Given the description of an element on the screen output the (x, y) to click on. 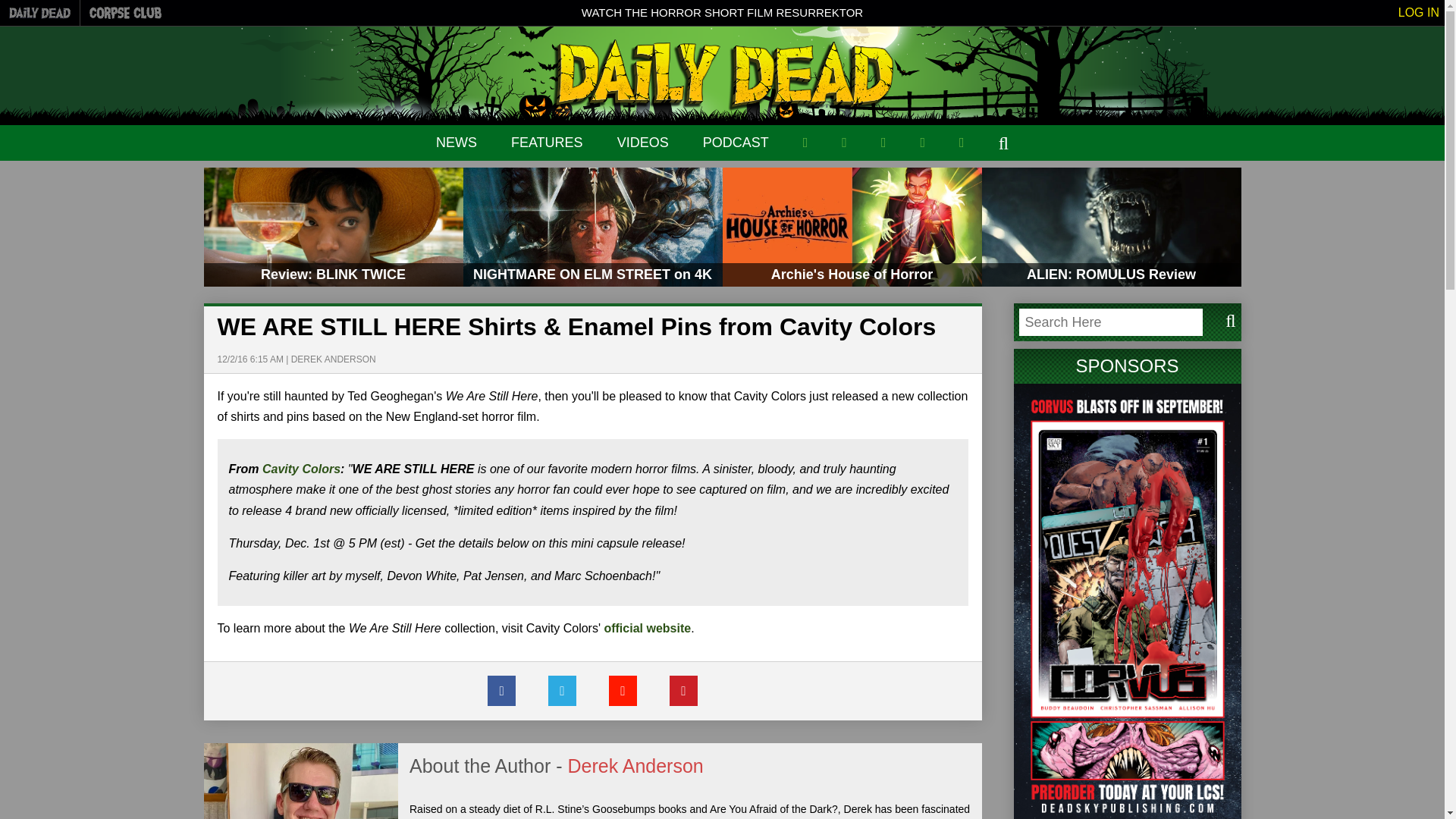
FEATURES (547, 142)
Cavity Colors (301, 468)
WATCH THE HORROR SHORT FILM RESURREKTOR (721, 11)
PODCAST (735, 142)
DEREK ANDERSON (333, 358)
VIDEOS (642, 142)
official website (647, 627)
ALIEN: ROMULUS Review (1110, 226)
NEWS (456, 142)
Review: BLINK TWICE (333, 226)
